Given the description of an element on the screen output the (x, y) to click on. 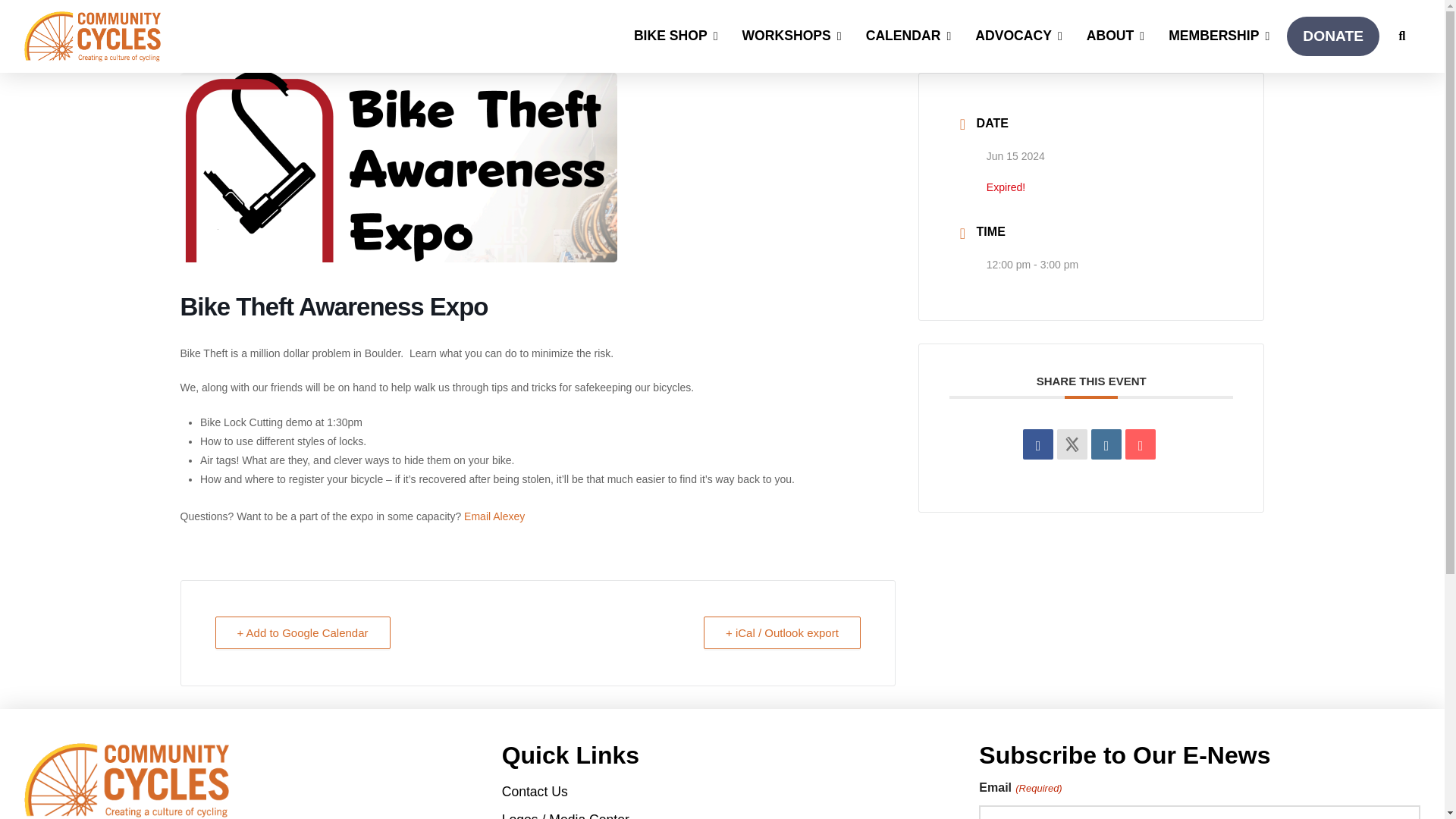
Email (1140, 444)
ABOUT (1116, 36)
CALENDAR (908, 36)
Share on Facebook (1037, 444)
BIKE SHOP (676, 36)
ADVOCACY (1019, 36)
WORKSHOPS (792, 36)
Linkedin (1105, 444)
X Social Network (1072, 444)
